Given the description of an element on the screen output the (x, y) to click on. 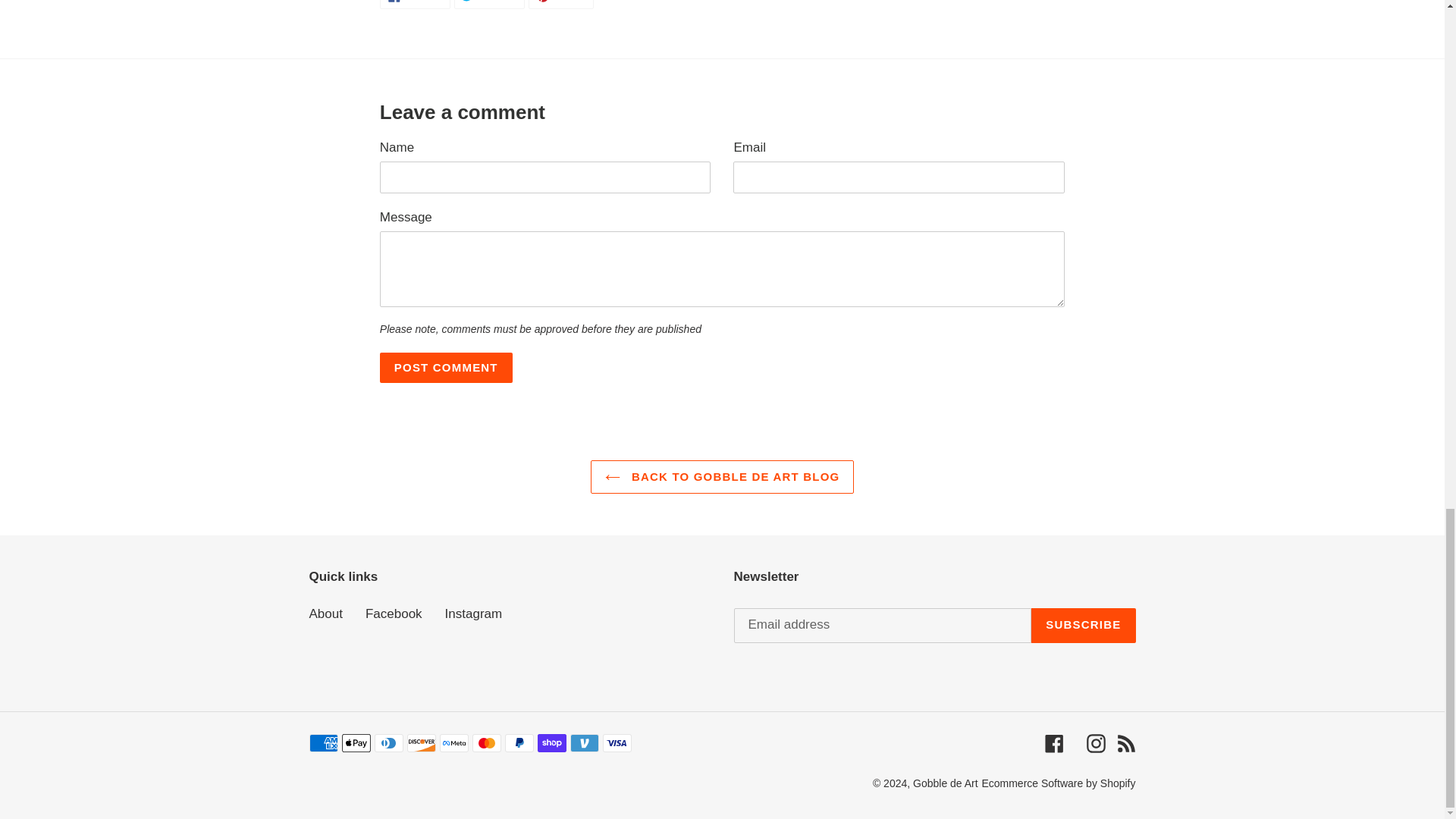
BACK TO GOBBLE DE ART BLOG (722, 477)
About (325, 613)
SUBSCRIBE (1082, 625)
Instagram (473, 613)
Post comment (489, 4)
Facebook (446, 367)
Post comment (393, 613)
